Given the description of an element on the screen output the (x, y) to click on. 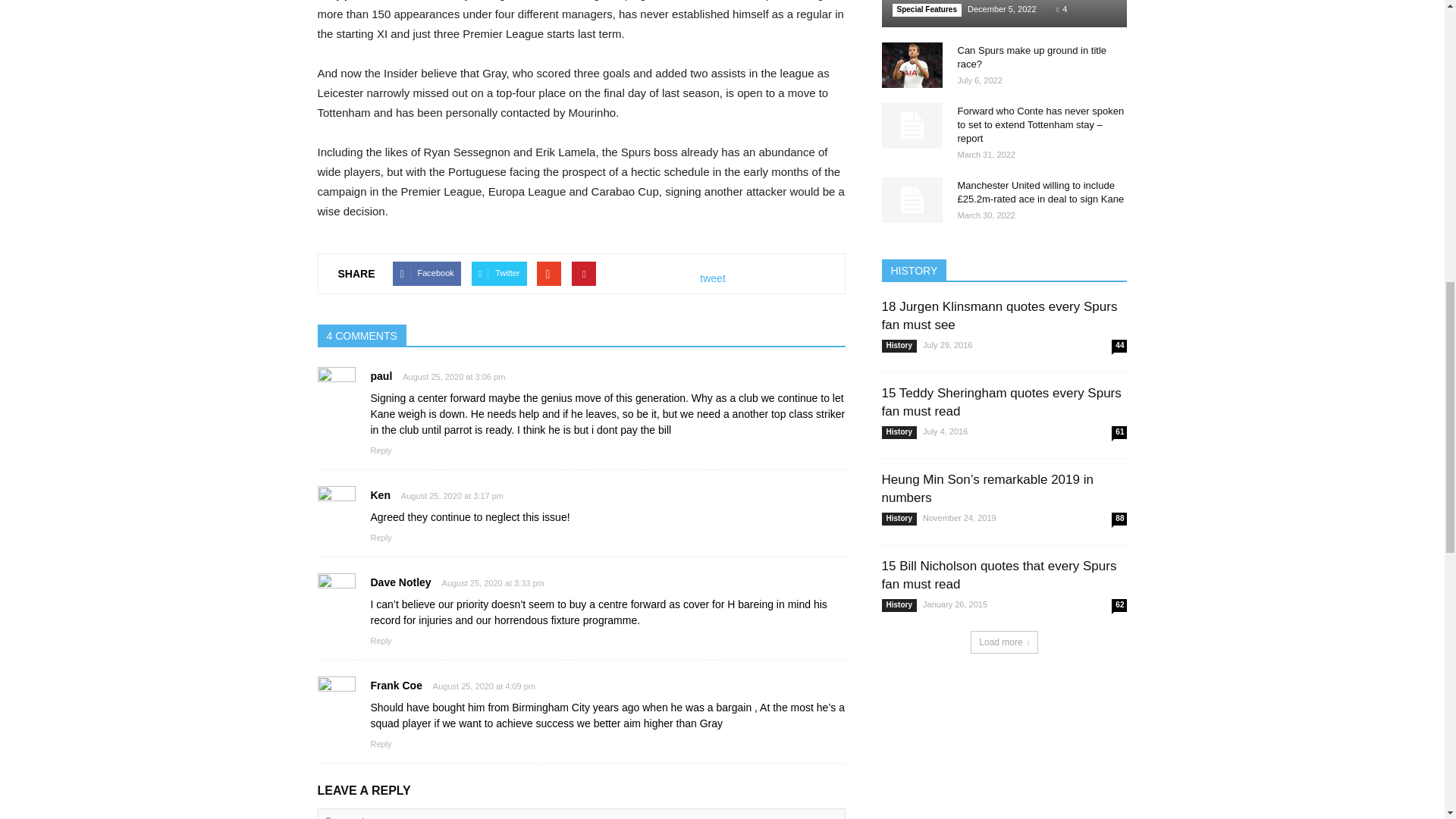
Can Spurs make up ground in title race? (1031, 57)
15 Teddy Sheringham quotes every Spurs fan must read (1000, 401)
Will Son shine at the 2022 World Cup? (1003, 13)
18 Jurgen Klinsmann quotes every Spurs fan must see (998, 315)
Can Spurs make up ground in title race? (911, 64)
